Given the description of an element on the screen output the (x, y) to click on. 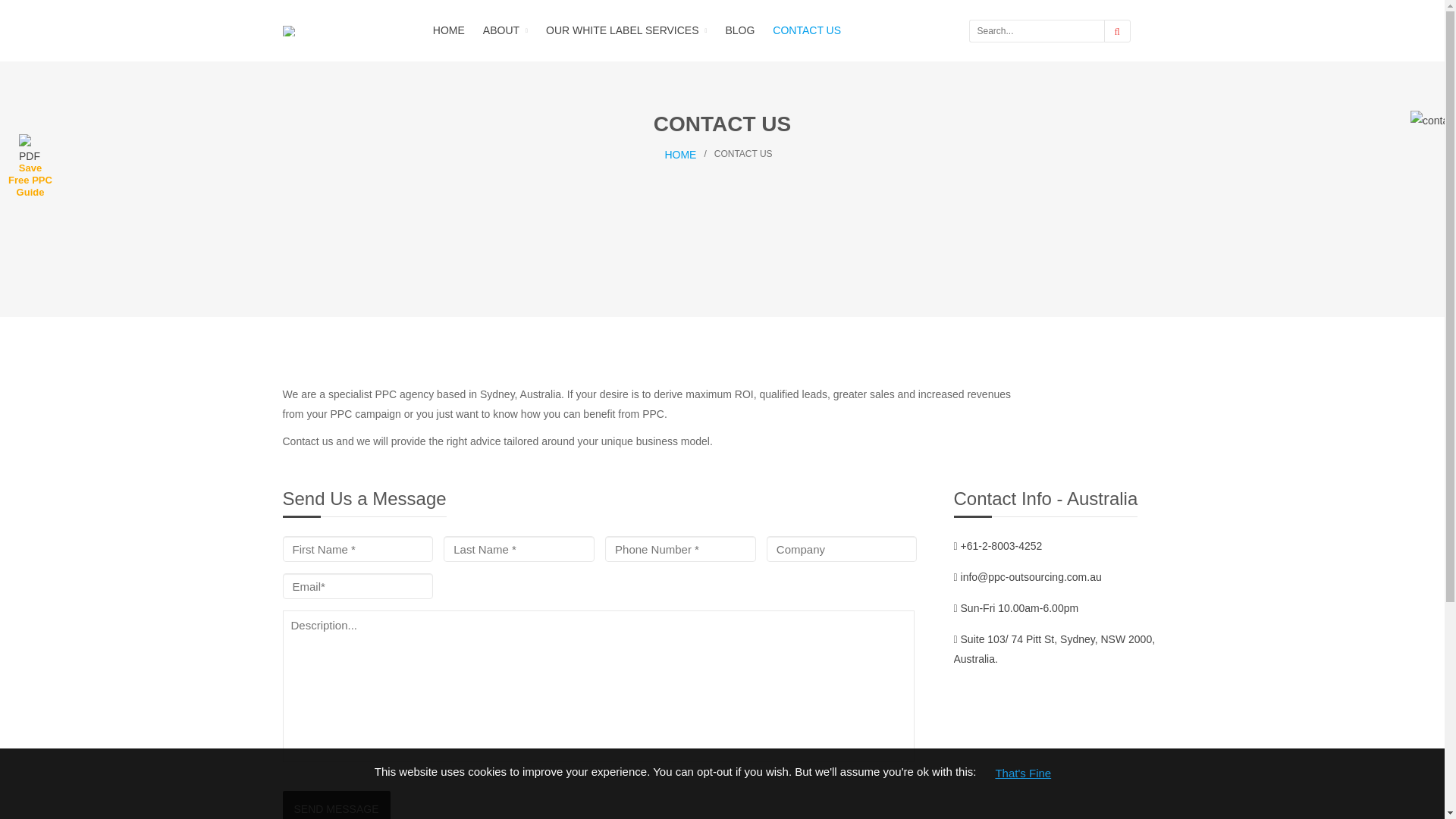
Save Free PPC Guide (30, 177)
SEND MESSAGE (336, 805)
